Given the description of an element on the screen output the (x, y) to click on. 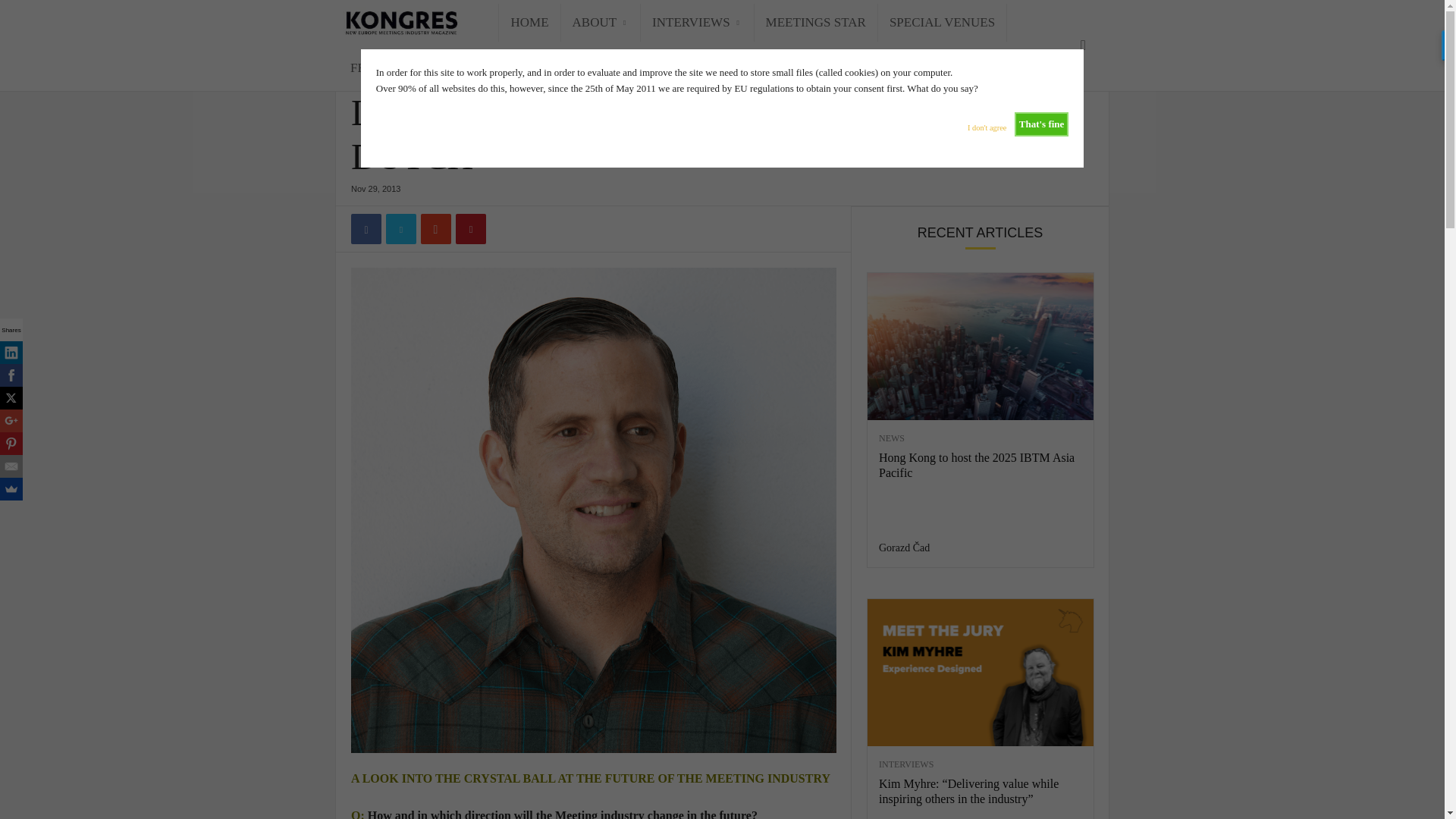
I don't agree (987, 123)
Home (360, 62)
MEETINGS STAR (815, 22)
SPECIAL VENUES (941, 22)
View all posts in INTERVIEWS (408, 62)
HOME (529, 22)
FROM THE EDITOR (407, 67)
INTERVIEWS (697, 22)
That's fine (1041, 124)
ABOUT (600, 22)
